Given the description of an element on the screen output the (x, y) to click on. 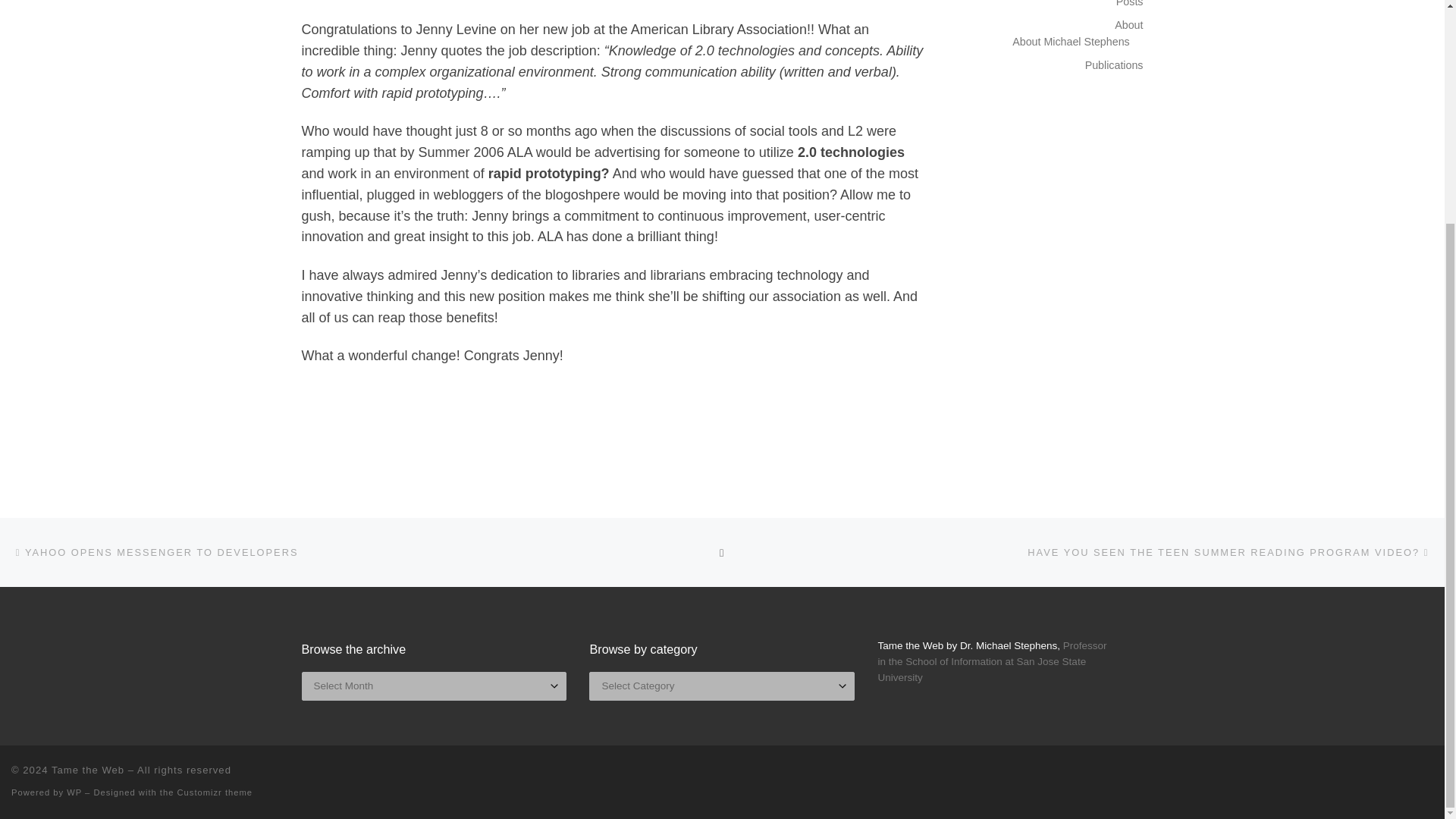
About (1128, 24)
YAHOO OPENS MESSENGER TO DEVELOPERS (154, 552)
Powered by WordPress (73, 791)
About Michael Stephens (1070, 41)
Posts (1129, 4)
Publications (1113, 64)
Tame the Web (86, 769)
